Given the description of an element on the screen output the (x, y) to click on. 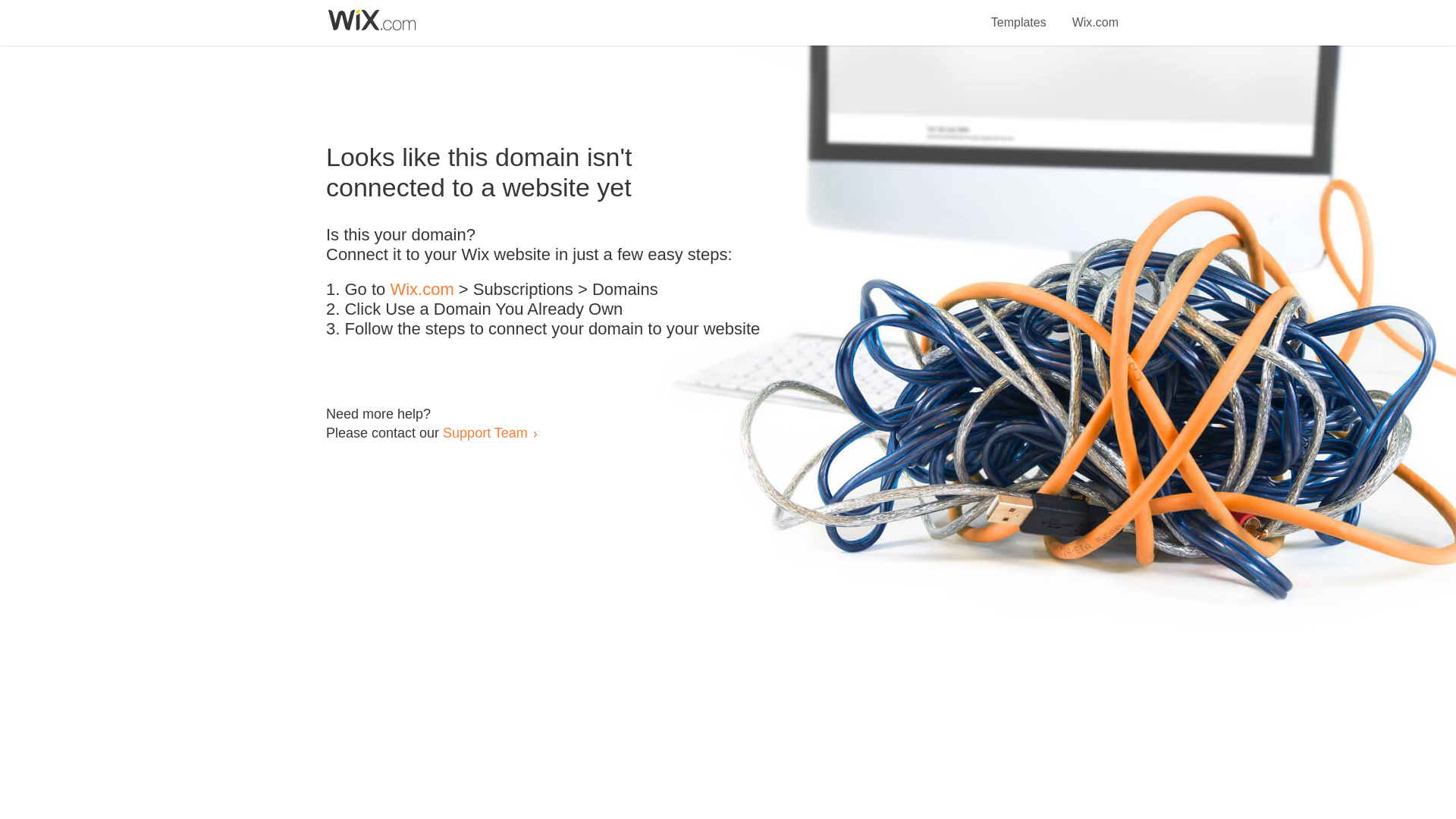
Wix.com (421, 289)
Wix.com (1095, 14)
Templates (1018, 14)
Support Team (484, 432)
